Given the description of an element on the screen output the (x, y) to click on. 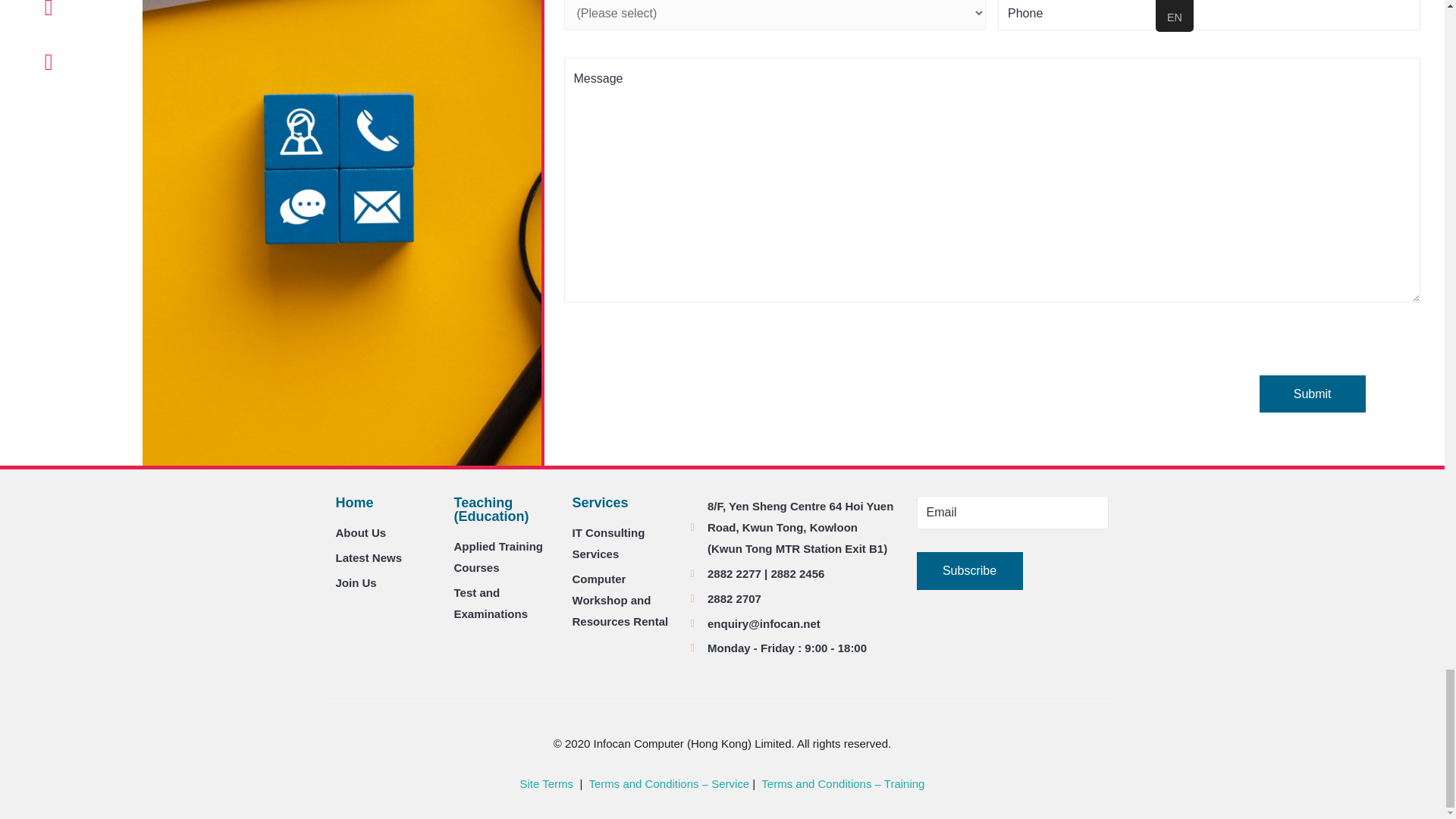
Latest News (386, 557)
Subscribe (968, 570)
Subscribe (968, 570)
Submit (1312, 394)
Site Terms  (547, 783)
IT Consulting Services (623, 543)
Home (353, 502)
About Us (386, 532)
Services (599, 502)
Test and Examinations (504, 603)
Submit (1312, 394)
Computer Workshop and Resources Rental (623, 600)
Applied Training Courses (504, 557)
Join Us (386, 582)
